Given the description of an element on the screen output the (x, y) to click on. 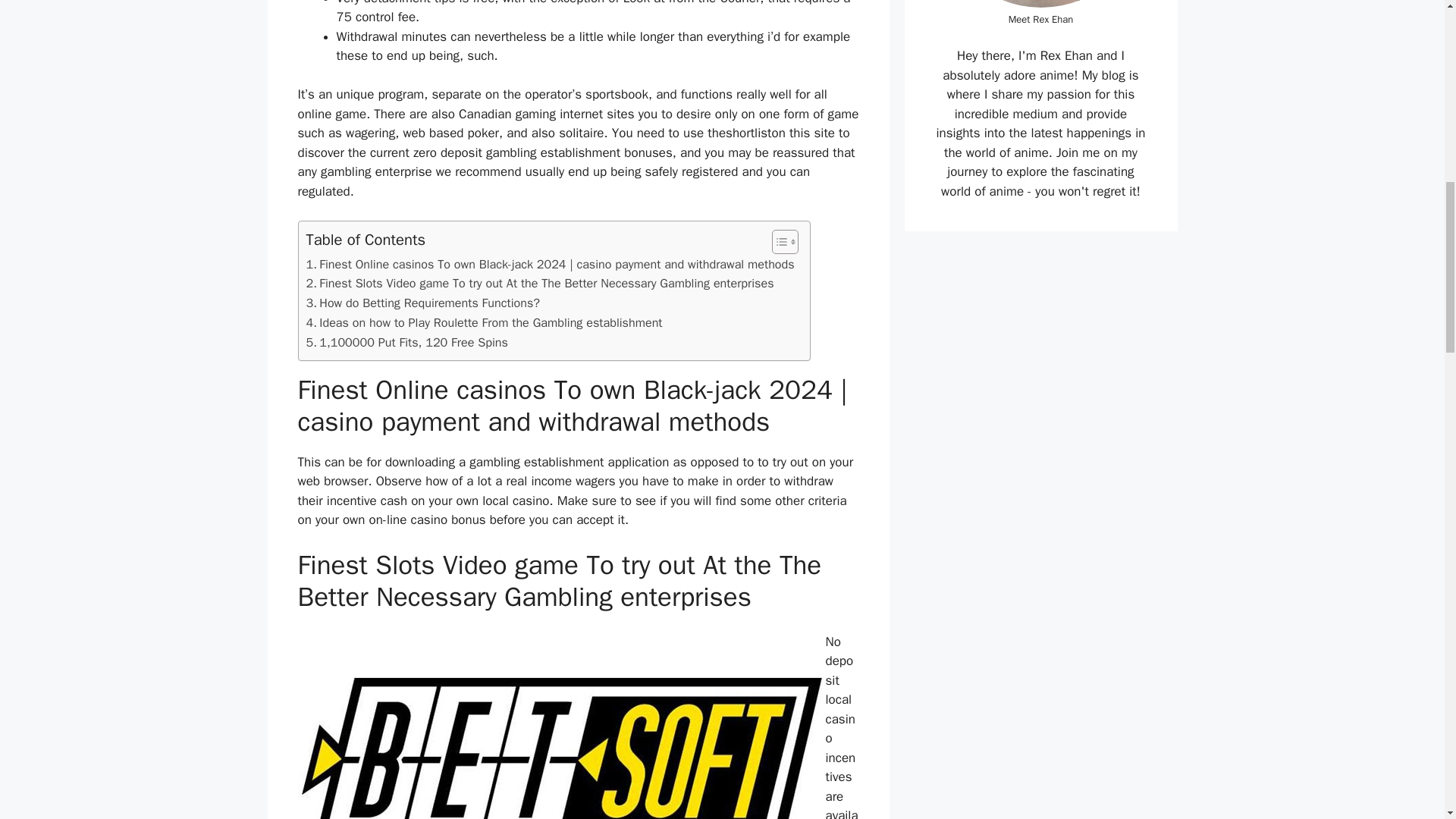
1,100000 Put Fits, 120 Free Spins (406, 342)
1,100000 Put Fits, 120 Free Spins (406, 342)
How do Betting Requirements Functions? (422, 302)
How do Betting Requirements Functions? (422, 302)
